Given the description of an element on the screen output the (x, y) to click on. 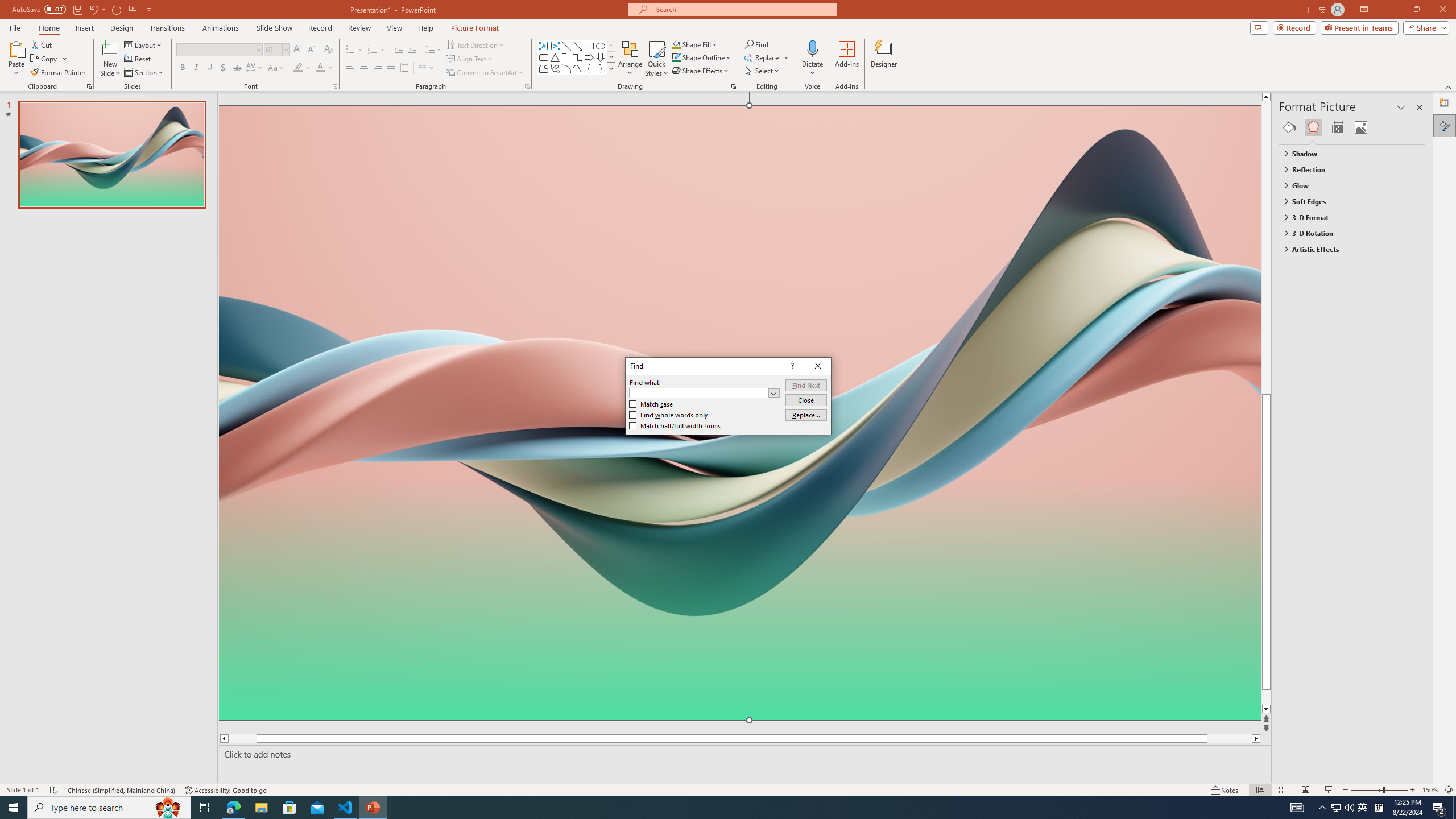
Arrow: Right (589, 57)
Line Spacing (433, 49)
Text Highlight Color (302, 67)
Format Object... (733, 85)
Animations (220, 28)
Fill & Line (1288, 126)
Collapse the Ribbon (1448, 86)
Paste (16, 58)
Copy (45, 58)
Artistic Effects (1347, 248)
Section (144, 72)
Tray Input Indicator - Chinese (Simplified, China) (1378, 807)
Format Picture (1444, 125)
Numbering (372, 49)
Bold (182, 67)
